Given the description of an element on the screen output the (x, y) to click on. 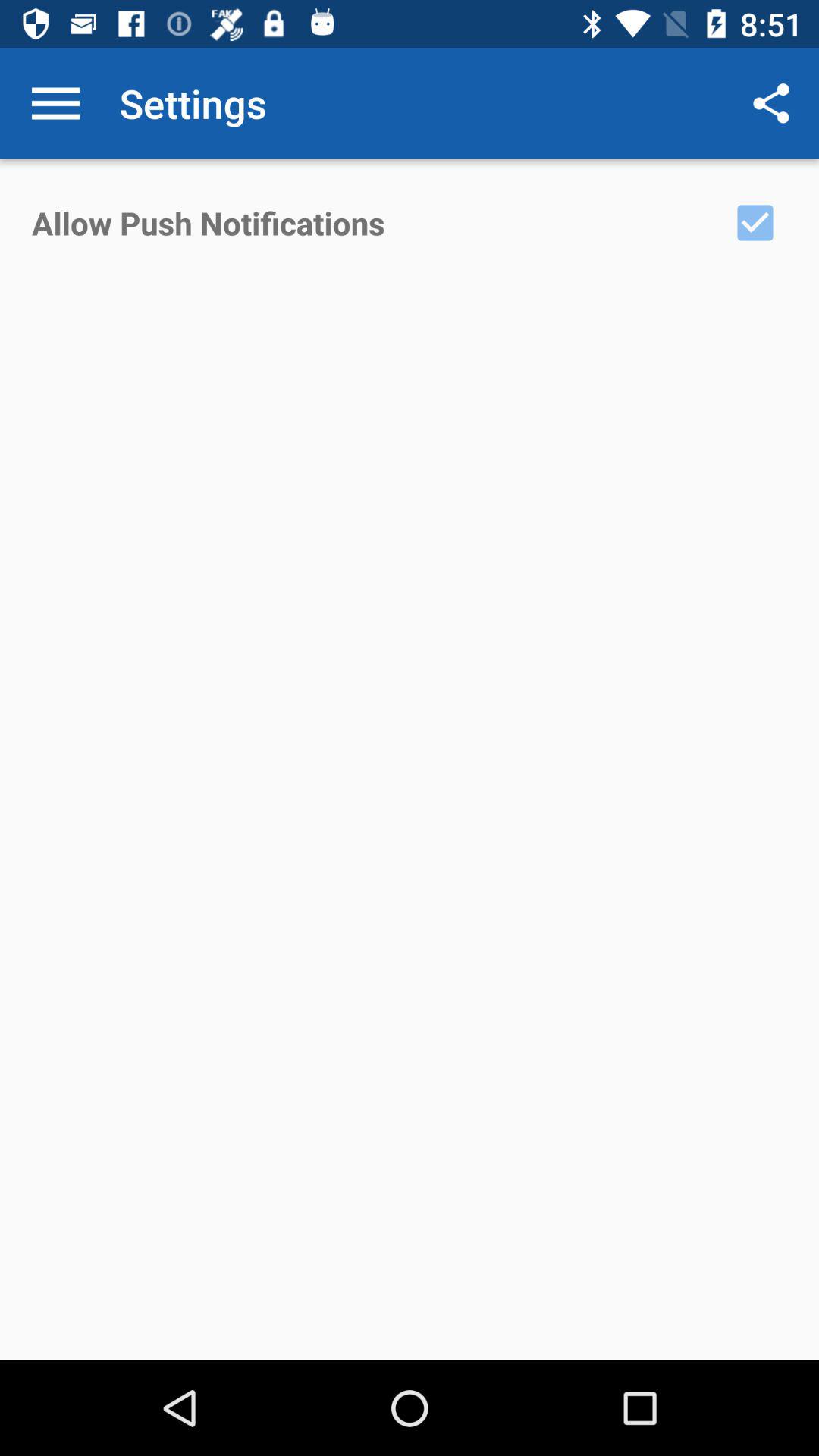
turn on item next to the allow push notifications item (755, 222)
